Given the description of an element on the screen output the (x, y) to click on. 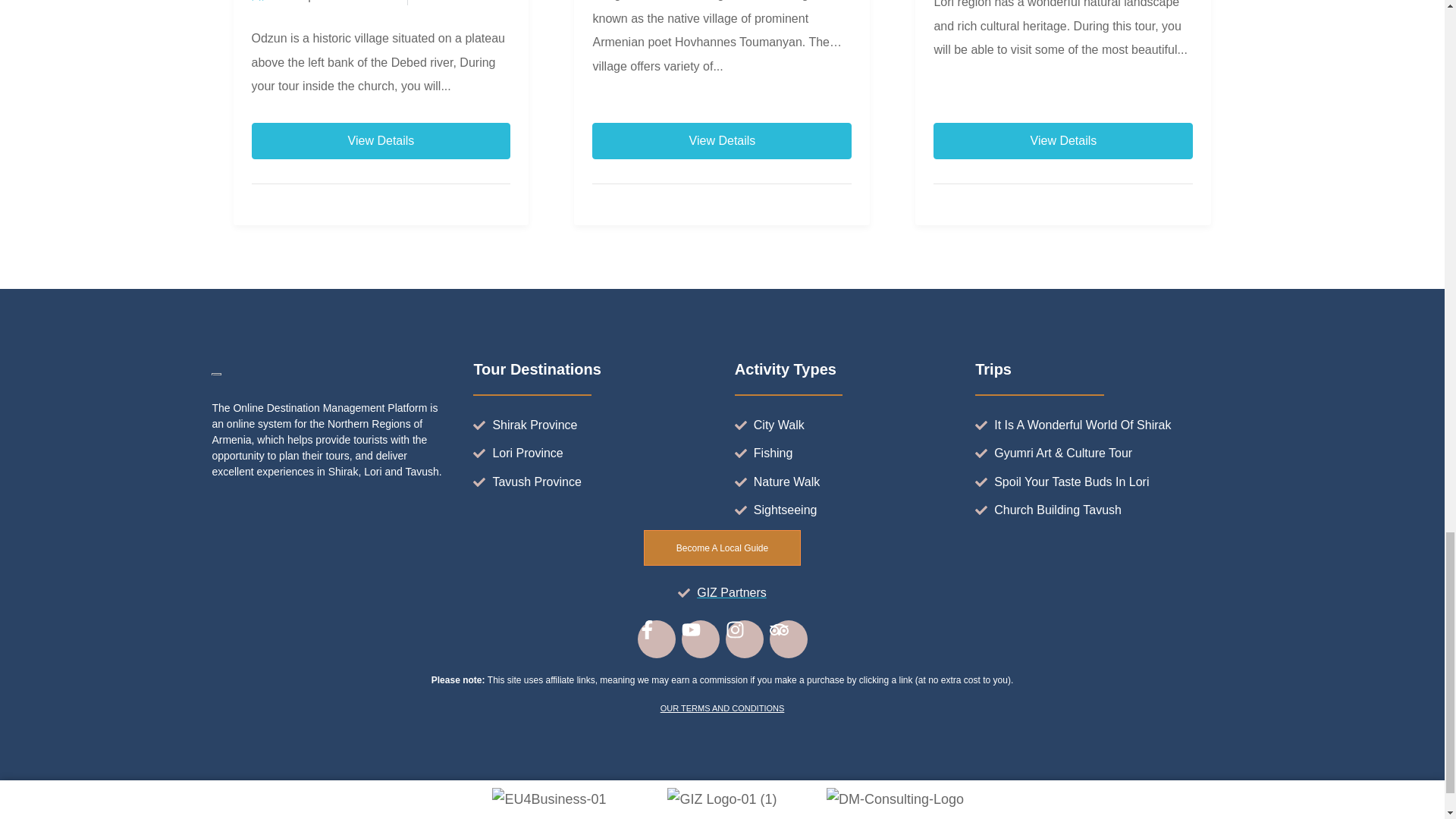
DM-Consulting-Logo (895, 799)
EU4Business-01 (548, 799)
